Given the description of an element on the screen output the (x, y) to click on. 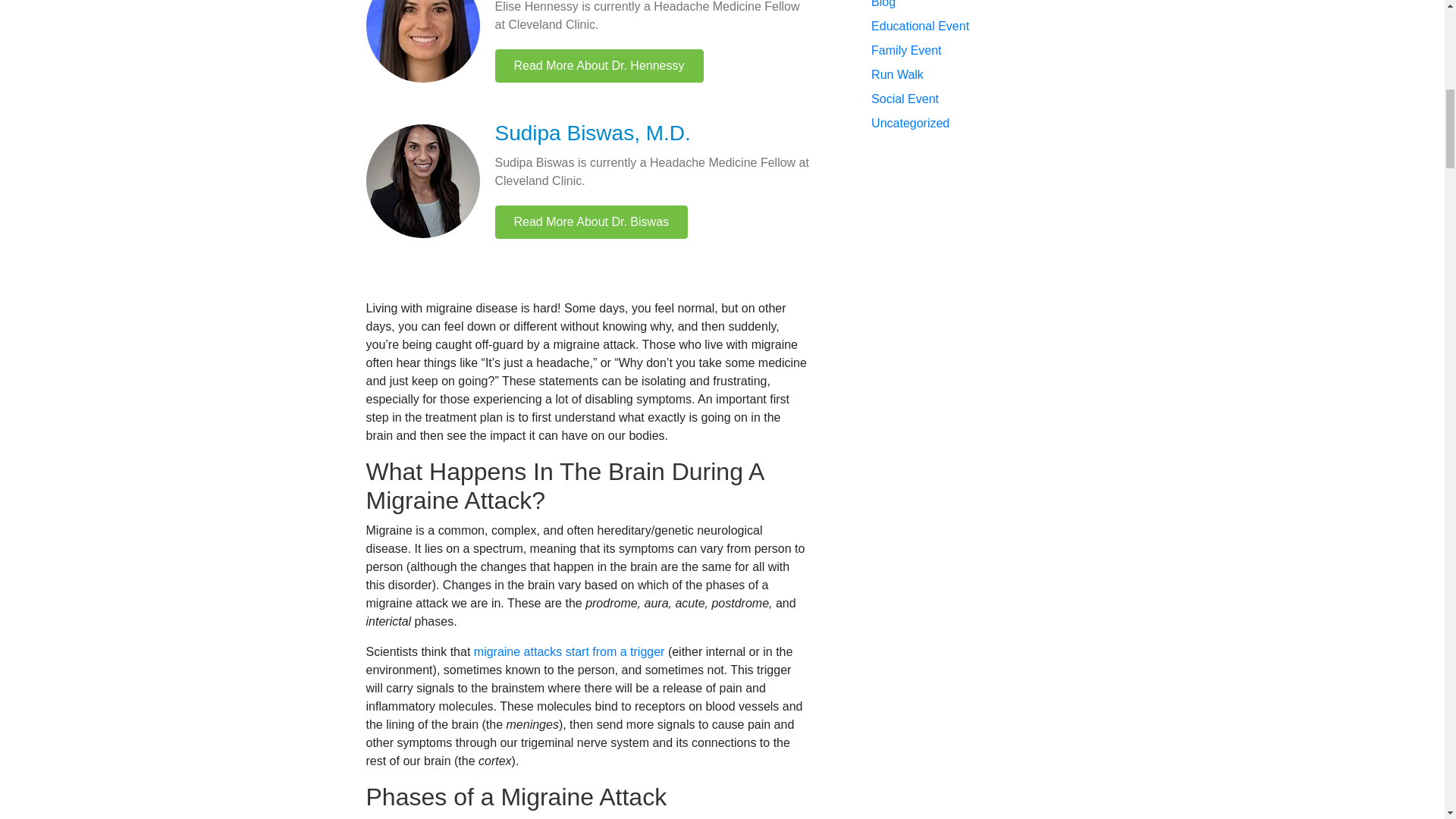
Biswas-S (422, 181)
Click Here (599, 65)
Hennessy-E (422, 41)
Click Here (591, 222)
